Given the description of an element on the screen output the (x, y) to click on. 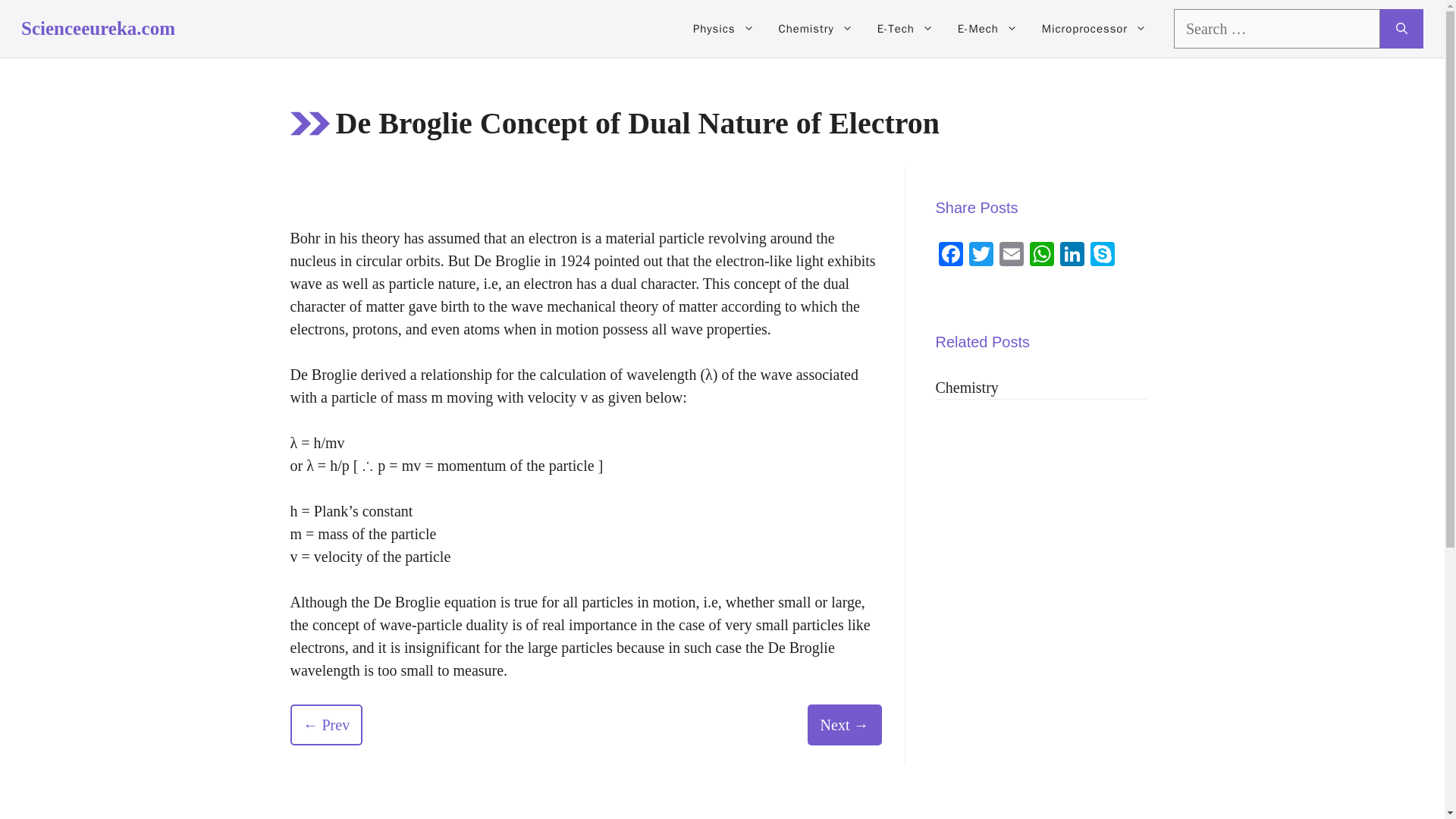
WhatsApp (1041, 255)
Scienceeureka.com (97, 28)
Search for: (1276, 28)
Chemistry (815, 28)
Physics (723, 28)
Microprocessor (1093, 28)
Twitter (980, 255)
Facebook (951, 255)
Email (1010, 255)
E-Mech (986, 28)
Skype (1102, 255)
LinkedIn (1072, 255)
E-Tech (904, 28)
